Given the description of an element on the screen output the (x, y) to click on. 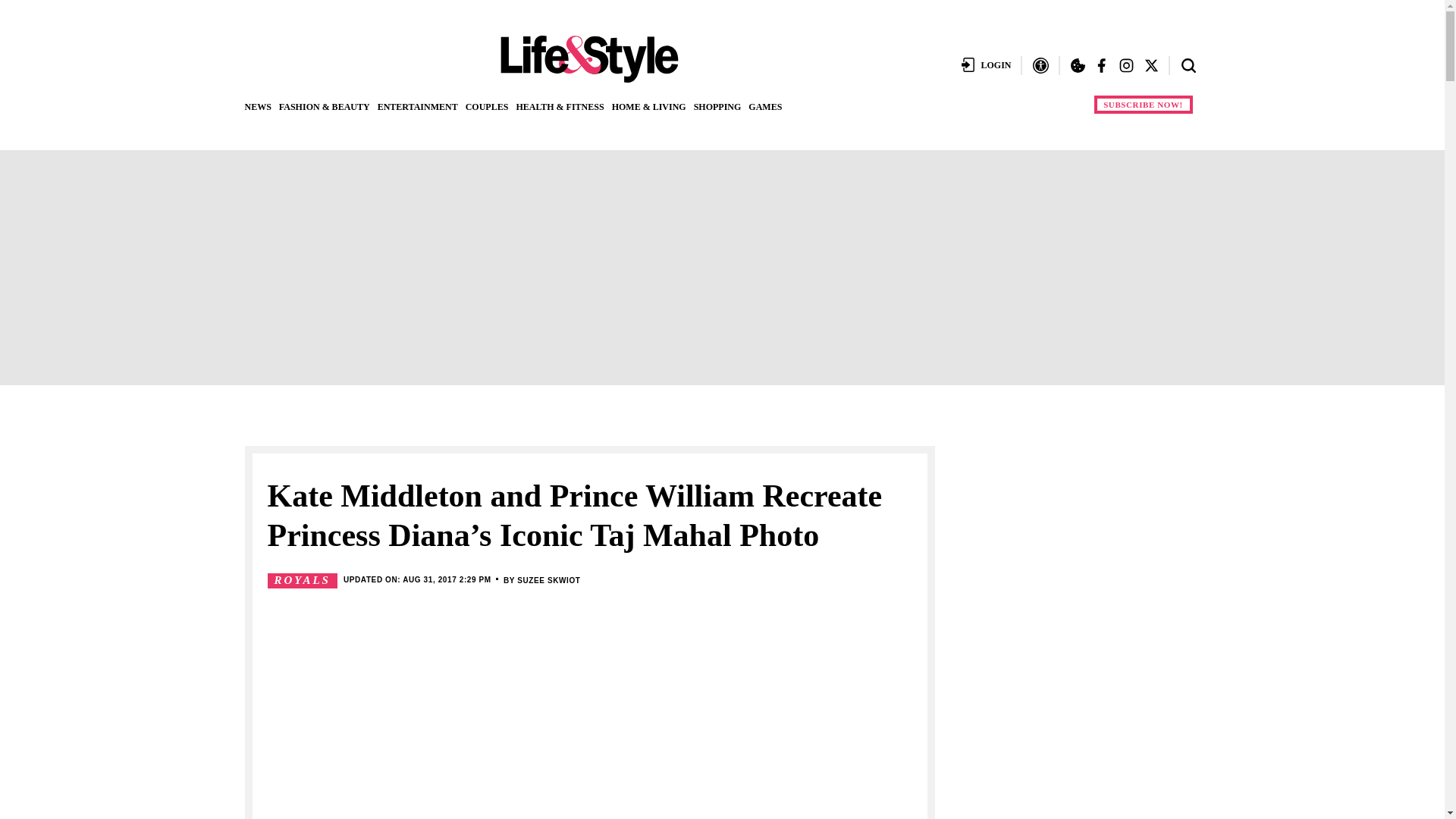
Posts by Suzee Skwiot (547, 580)
ENTERTAINMENT (417, 106)
NEWS (257, 106)
